Given the description of an element on the screen output the (x, y) to click on. 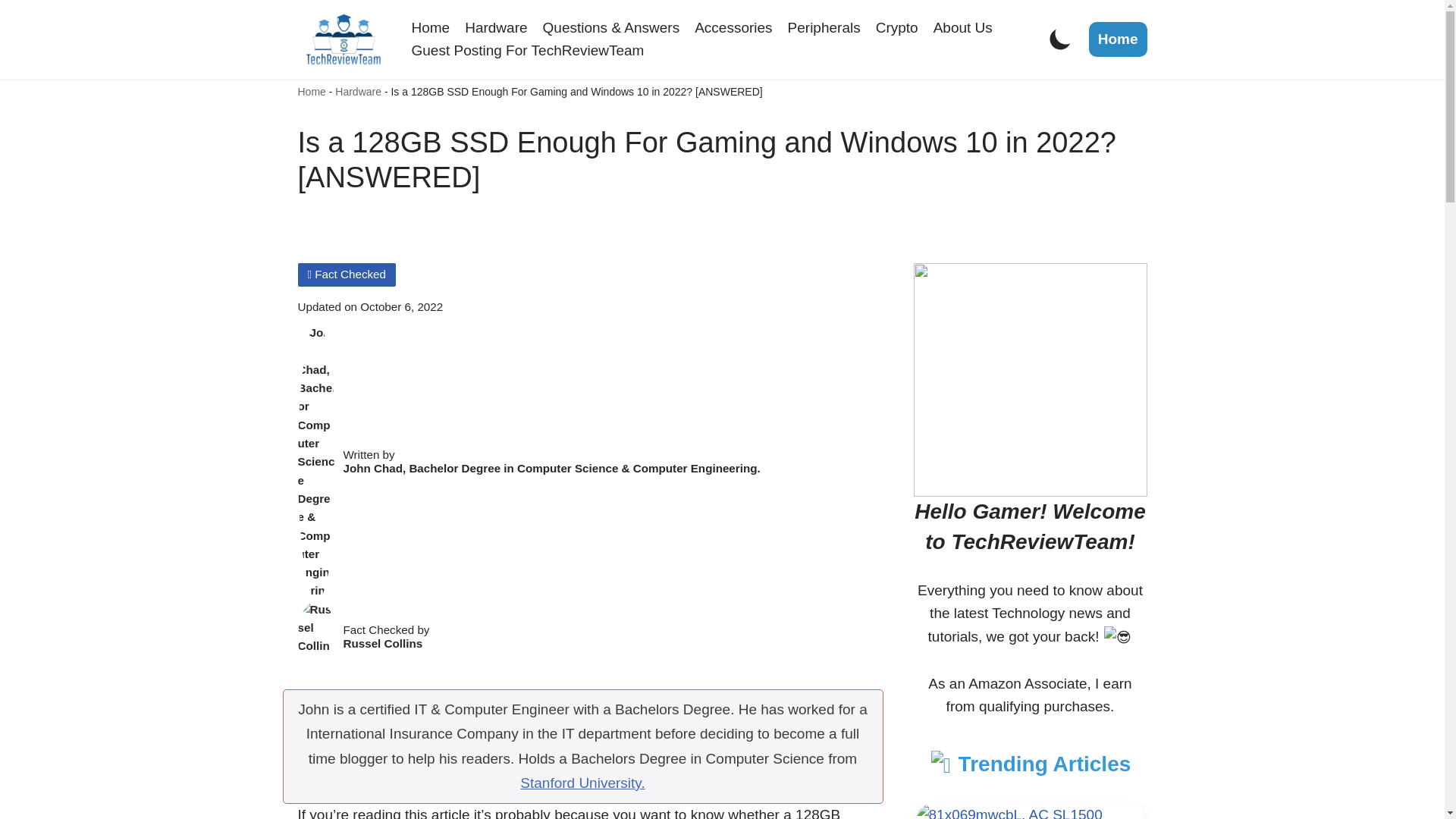
Skip to content (11, 31)
Hardware (495, 27)
About Us (962, 27)
Home (1118, 39)
Stanford University. (582, 782)
Guest Posting For TechReviewTeam (526, 50)
TechReviewTeam (342, 39)
Hardware (357, 91)
Accessories (732, 27)
Home (310, 91)
Crypto (897, 27)
Peripherals (823, 27)
Home (429, 27)
